Given the description of an element on the screen output the (x, y) to click on. 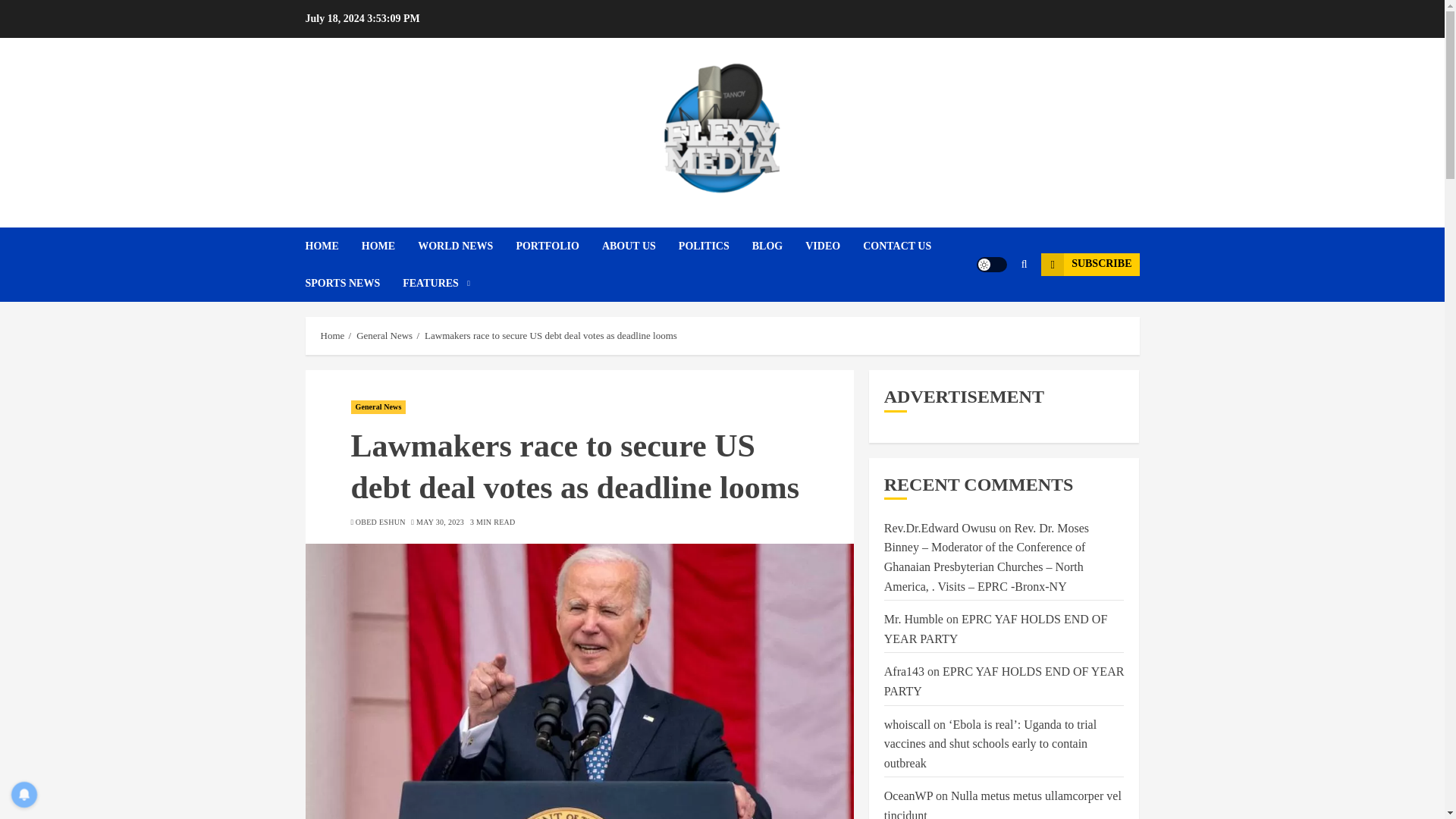
OBED ESHUN (380, 521)
HOME (389, 245)
ABOUT US (640, 245)
Home (331, 336)
BLOG (778, 245)
VIDEO (834, 245)
MAY 30, 2023 (440, 521)
General News (378, 407)
SPORTS NEWS (353, 283)
WORLD NEWS (466, 245)
Search (994, 309)
SUBSCRIBE (1089, 264)
CONTACT US (908, 245)
FEATURES (436, 283)
POLITICS (715, 245)
